Given the description of an element on the screen output the (x, y) to click on. 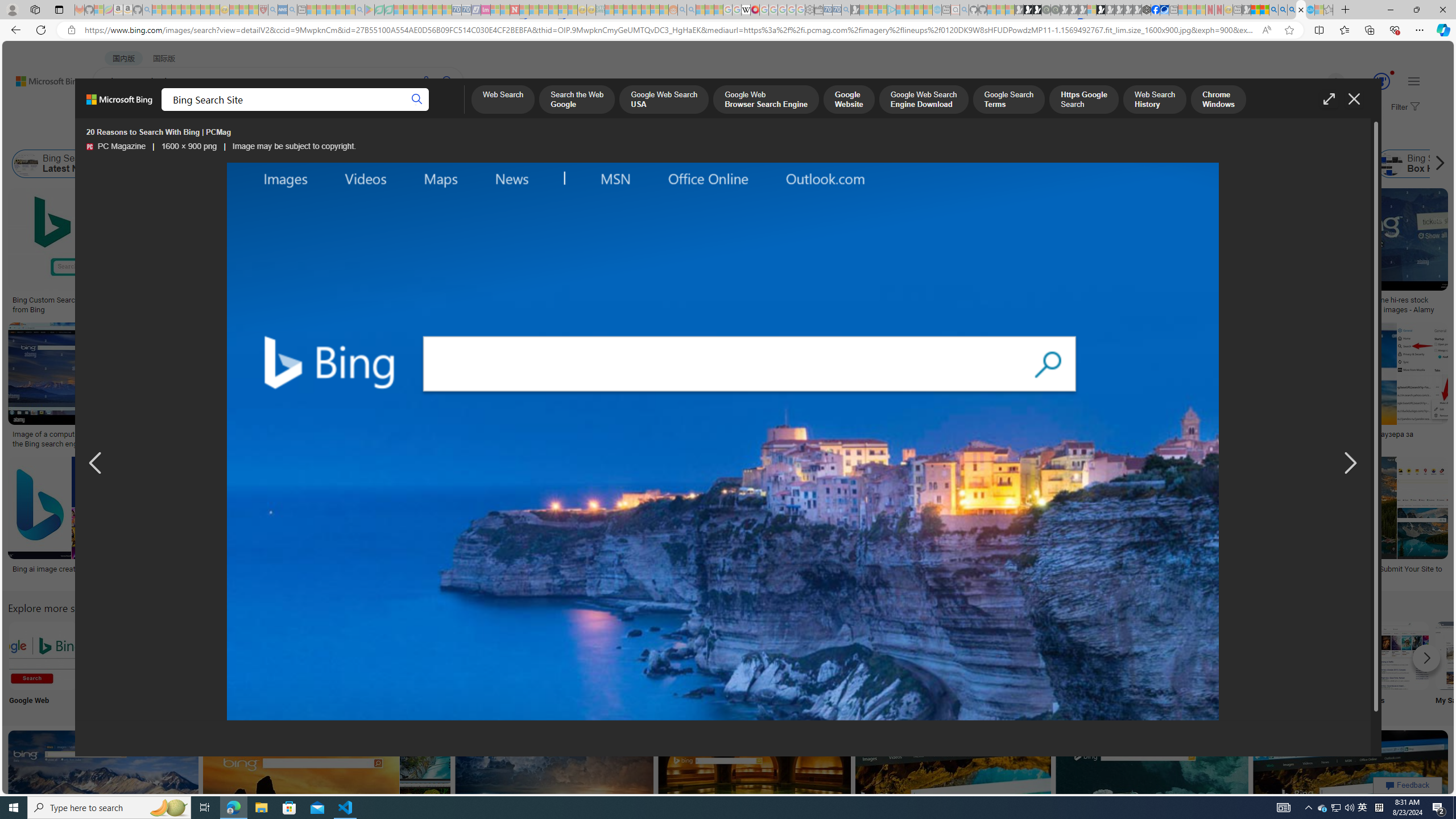
Bing Intelligent Search Intelligent (1093, 665)
Previous image result (95, 463)
Bing Search Terms (582, 163)
Bing Hoodies (802, 261)
App Logo (118, 665)
PC Magazine PC Magazine (115, 146)
20 Reasons to Search With Bing | PCMag (648, 299)
Bing Can Now Search for Any Object in an Image (1119, 434)
Bing - SEOLend (280, 299)
